Given the description of an element on the screen output the (x, y) to click on. 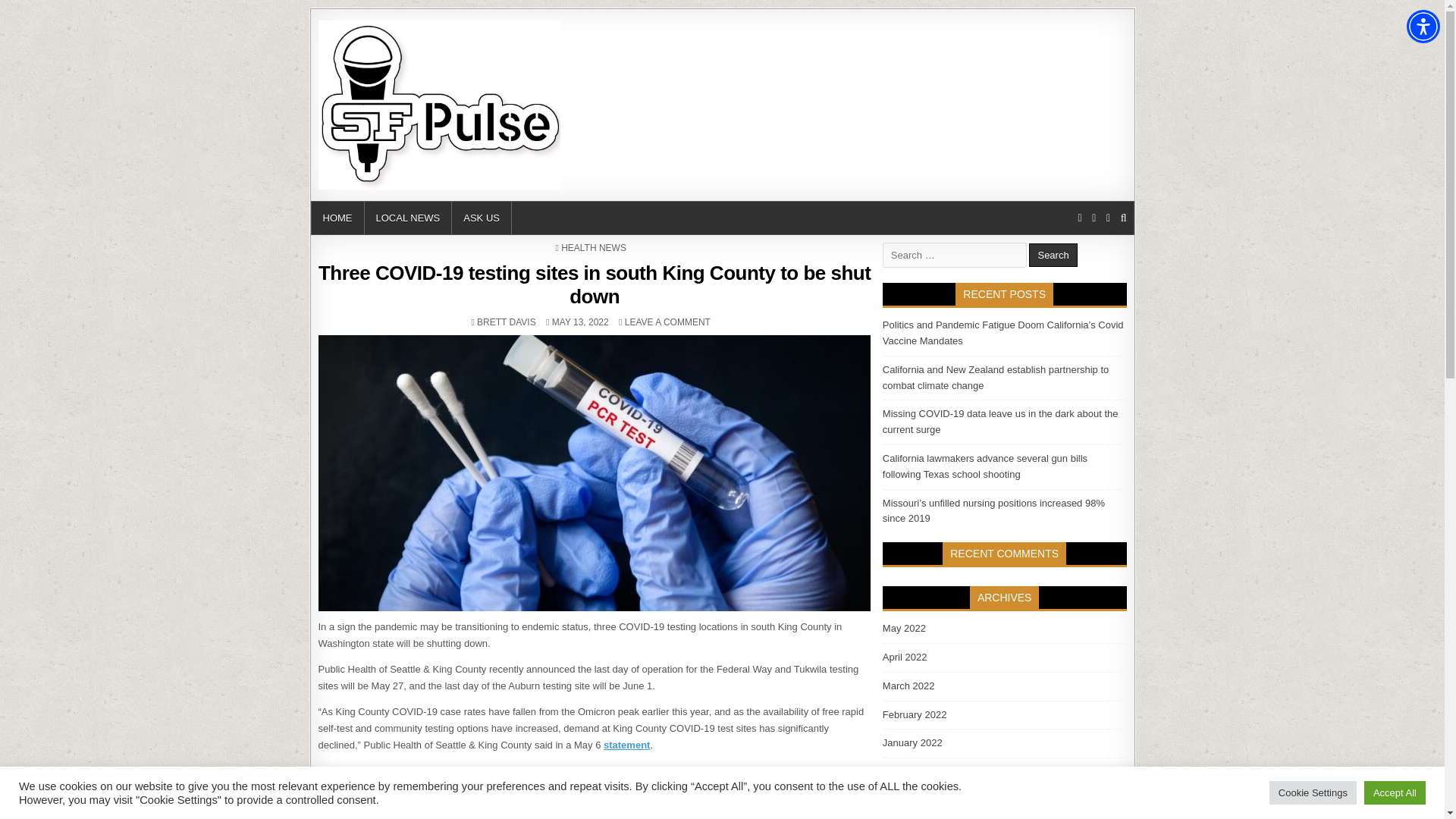
HOME (337, 217)
Search (506, 321)
statement (1053, 254)
May 2022 (626, 745)
December 2021 (904, 627)
Search (917, 771)
ASK US (1053, 254)
LOCAL NEWS (481, 217)
Accessibility Menu (407, 217)
January 2022 (1422, 26)
